Given the description of an element on the screen output the (x, y) to click on. 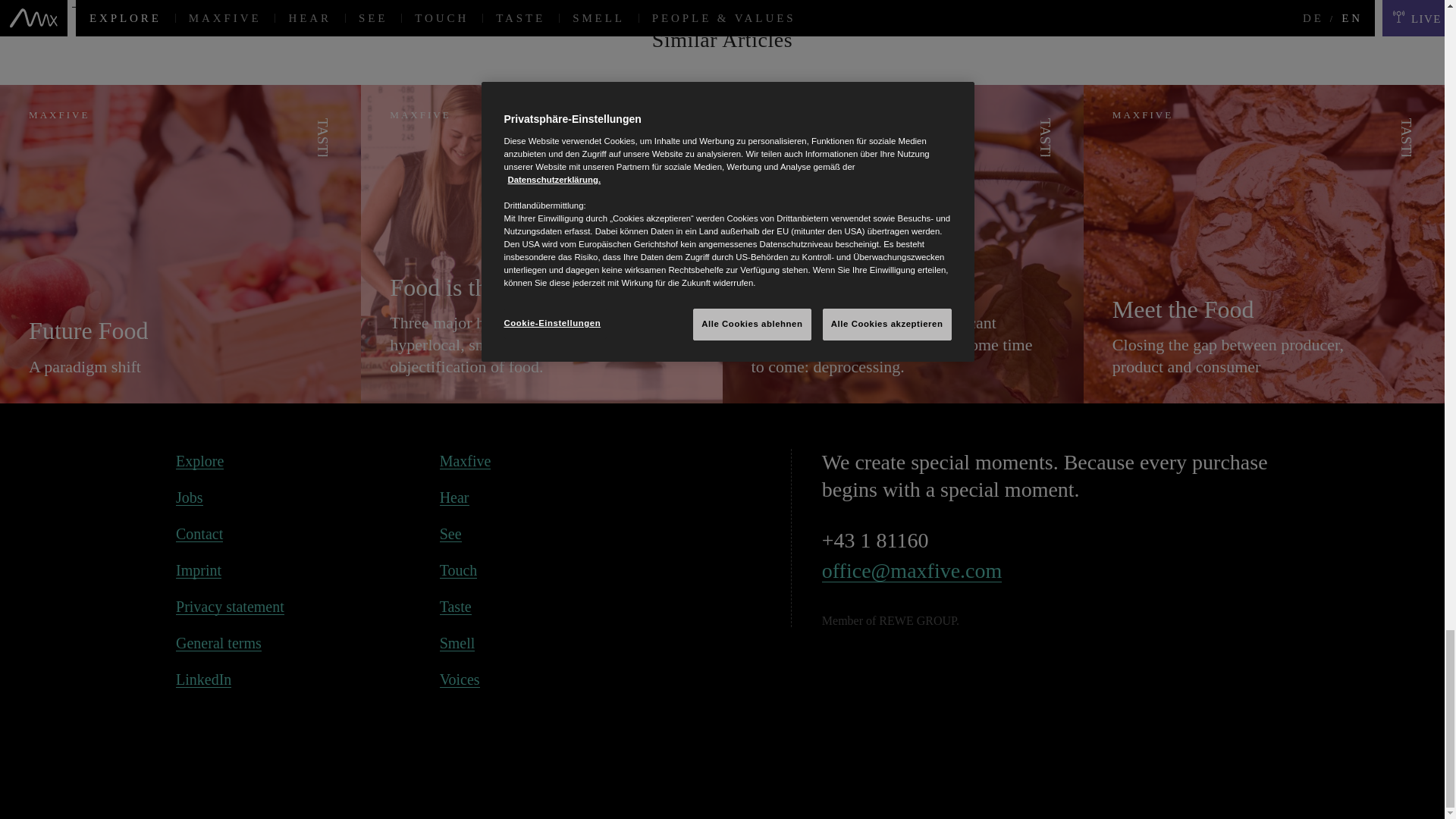
TASTE (323, 136)
TASTE (685, 136)
TASTE (1046, 136)
TASTE (1406, 136)
